Given the description of an element on the screen output the (x, y) to click on. 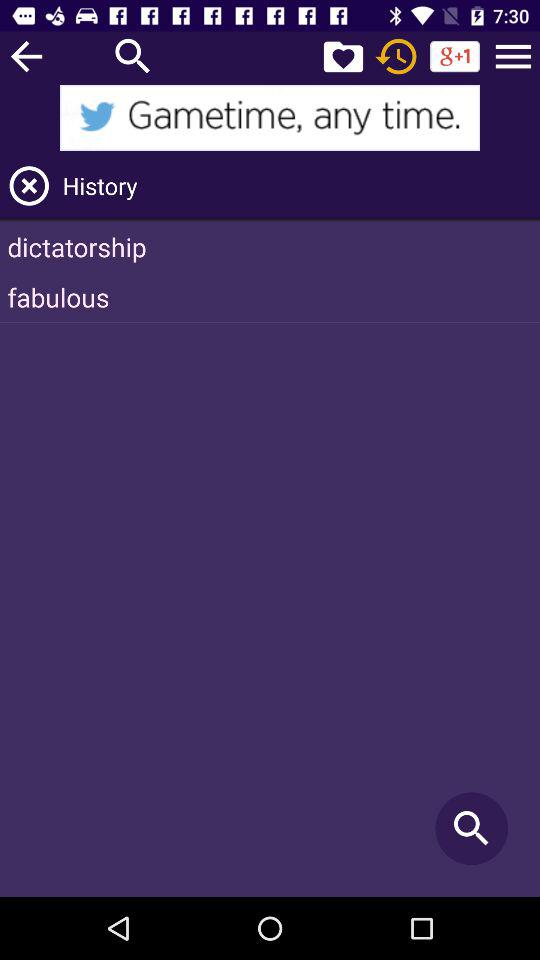
jump until history icon (298, 185)
